Given the description of an element on the screen output the (x, y) to click on. 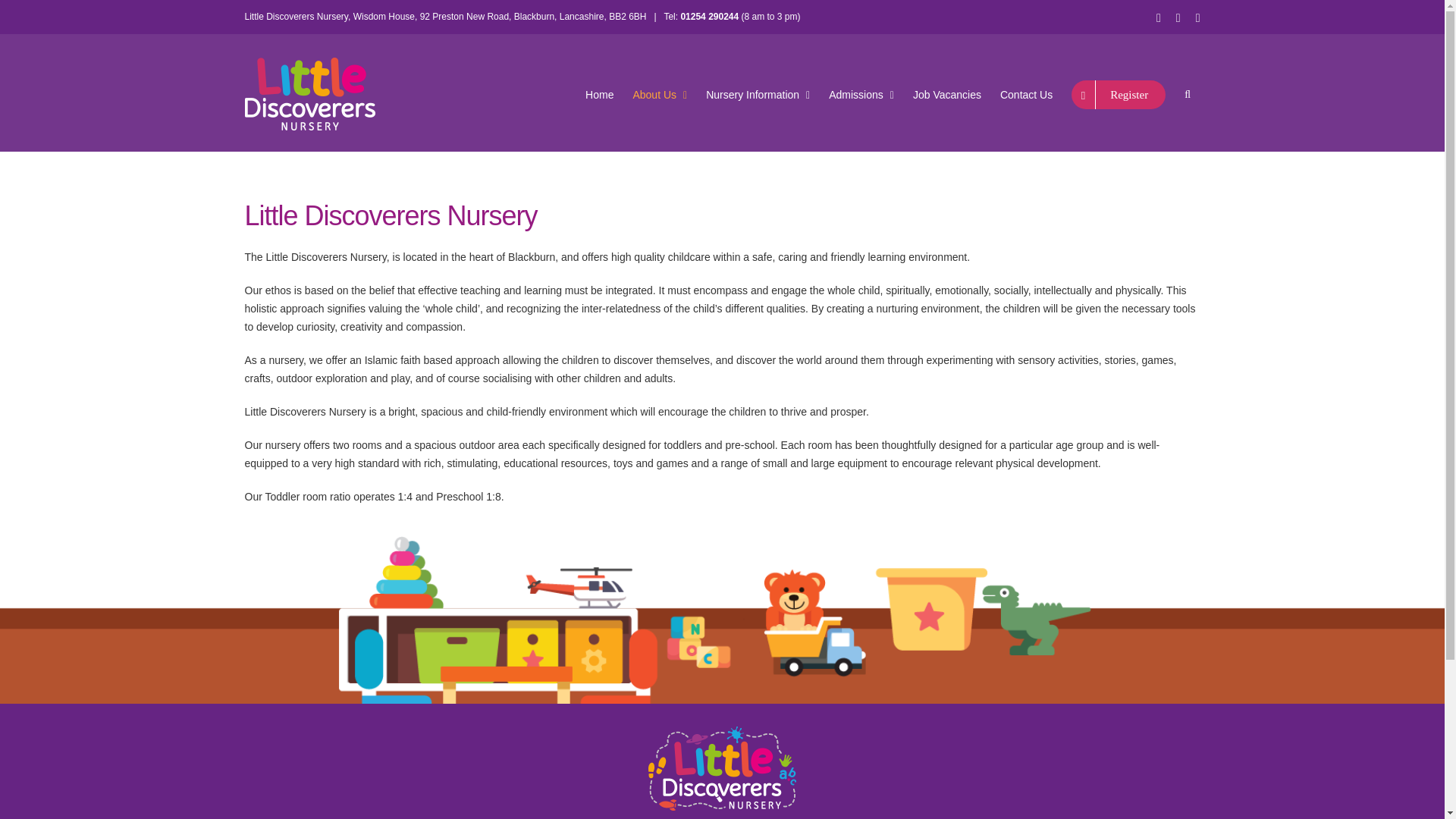
Register (1118, 94)
About Us (660, 94)
Nursery Information (758, 94)
Admissions (861, 94)
Job Vacancies (946, 94)
Contact Us (1025, 94)
Home (599, 94)
